Given the description of an element on the screen output the (x, y) to click on. 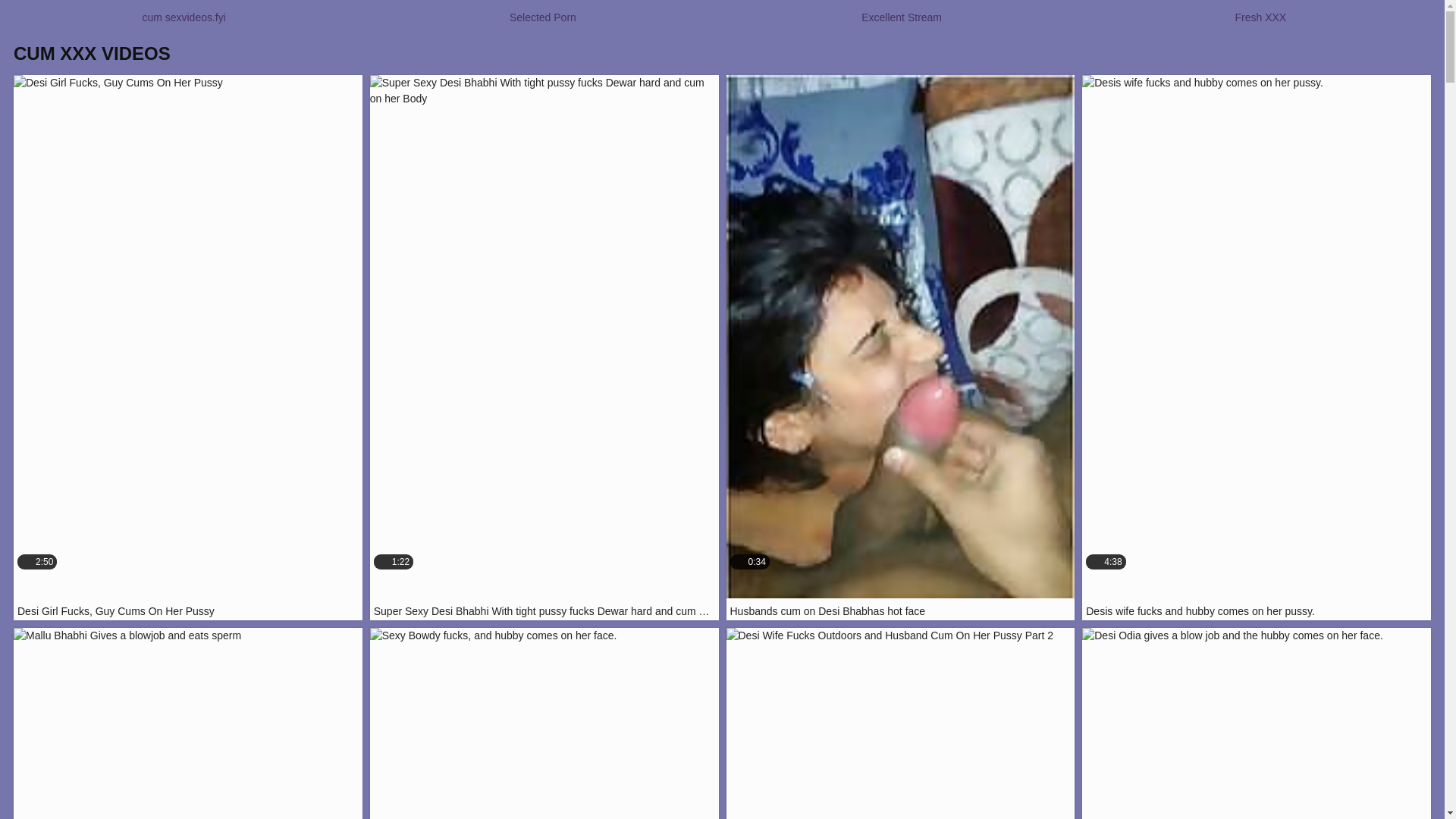
Desi Wife Fucks Outdoors and Husband Cum On Her Pussy Part 2 (900, 723)
Desi Odia gives a blow job and the hubby comes on her face. (1256, 723)
Excellent Stream (900, 17)
Mallu Bhabhi Gives a blowjob and eats sperm (187, 723)
cum sexvideos.fyi (183, 17)
Sexy Bowdy fucks, and hubby comes on her face. (544, 723)
Selected Porn (187, 723)
